Given the description of an element on the screen output the (x, y) to click on. 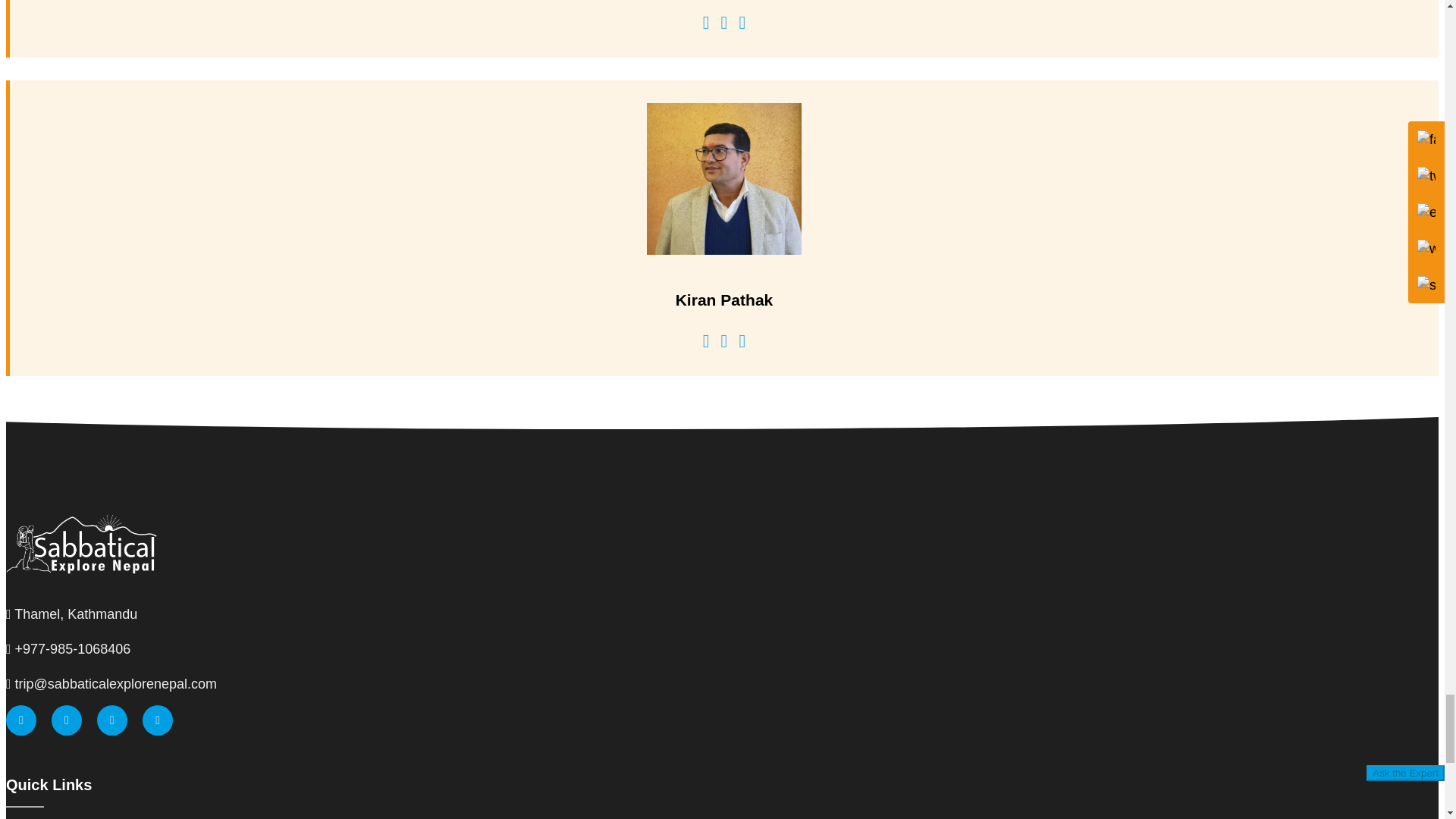
You Tube (157, 719)
Facebook (20, 719)
Twitter (65, 719)
